Given the description of an element on the screen output the (x, y) to click on. 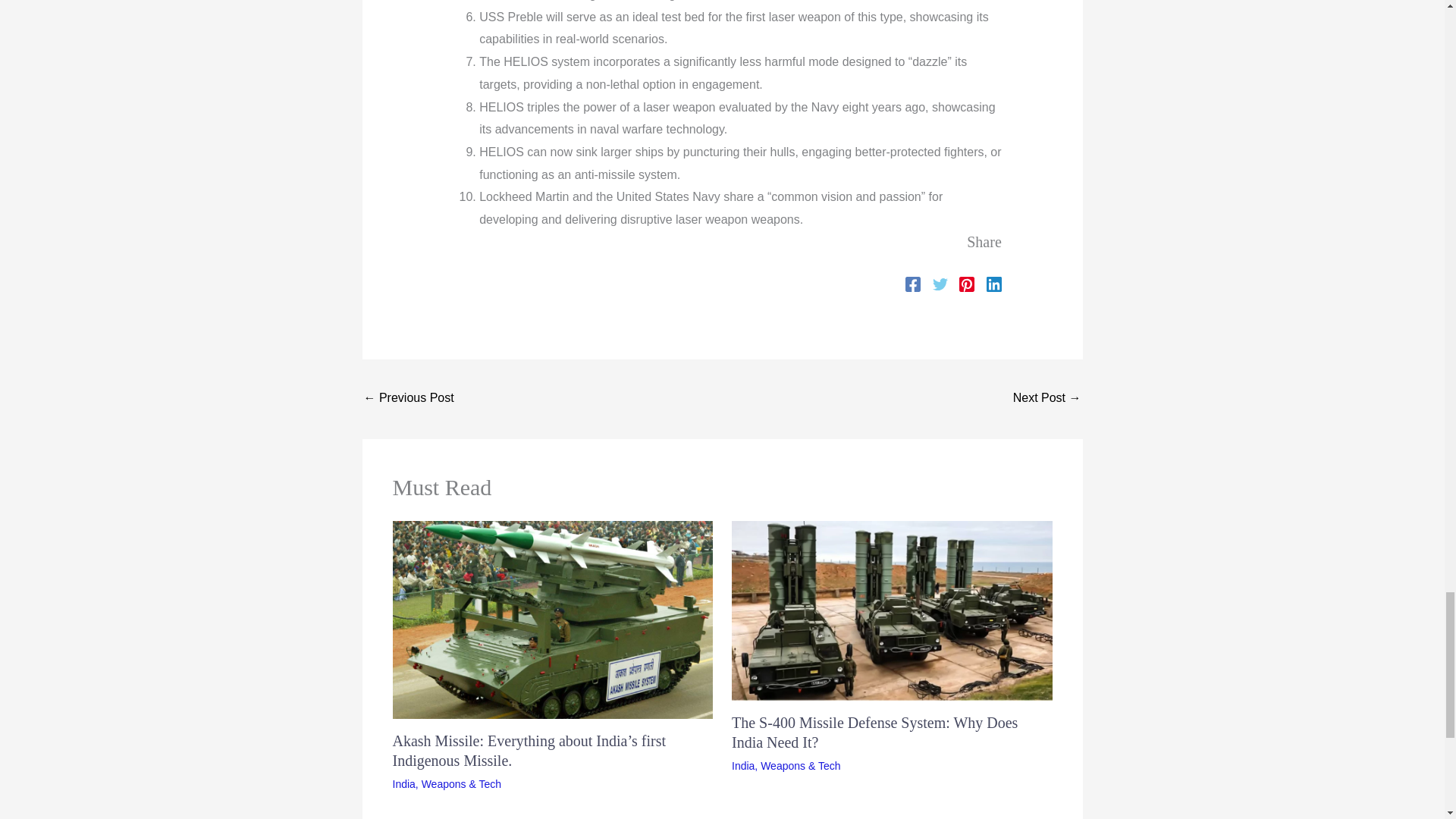
The S-400 Missile Defense System: Why Does India Need It? (874, 732)
India (743, 766)
India (403, 784)
